Given the description of an element on the screen output the (x, y) to click on. 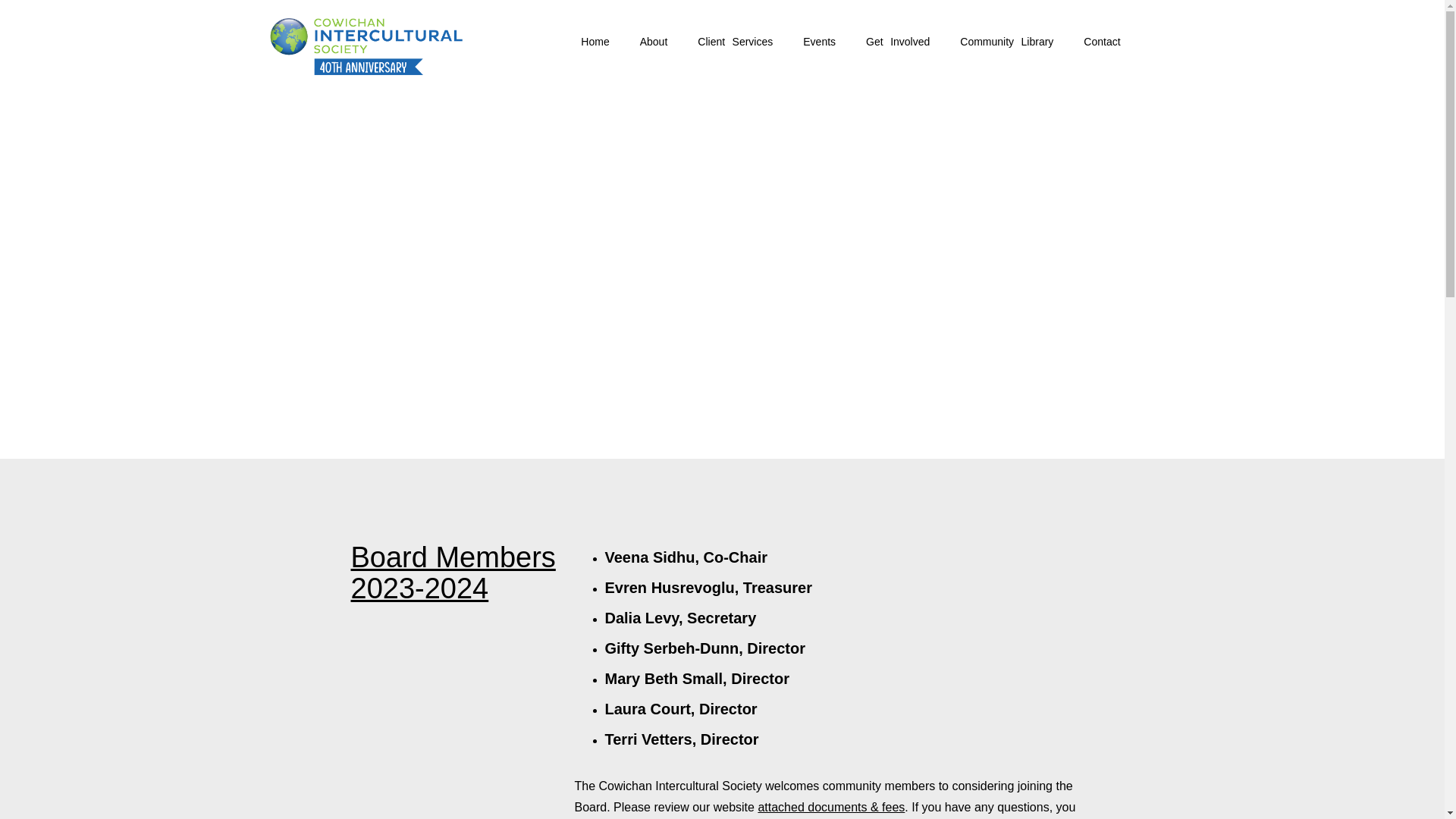
About (653, 41)
Events (818, 41)
Community Library (1006, 41)
Get Involved (897, 41)
Contact (1101, 41)
Home (595, 41)
Client Services (734, 41)
